Given the description of an element on the screen output the (x, y) to click on. 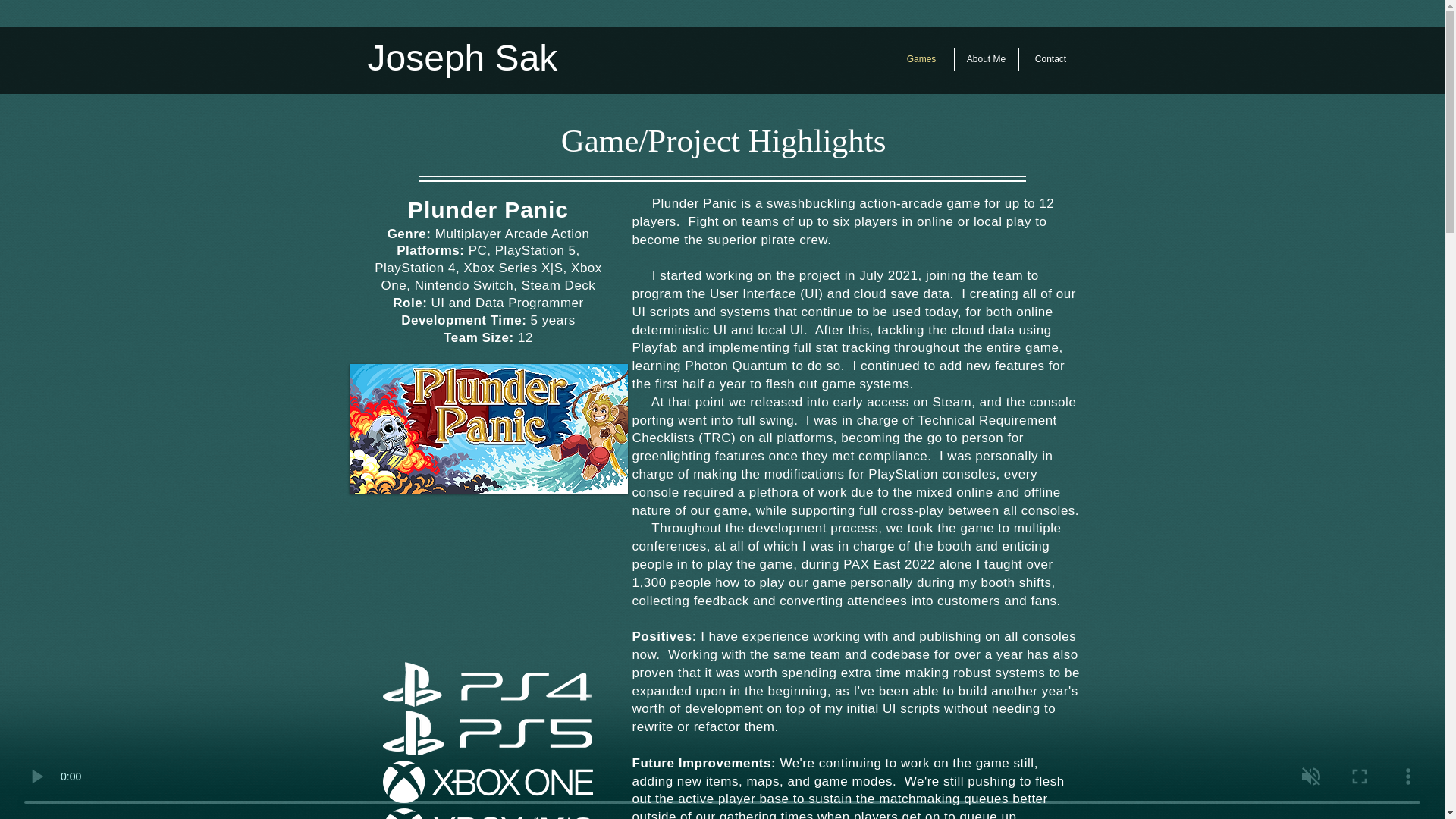
Xbox Store (486, 781)
Games (920, 58)
About Me (985, 58)
Embedded Content (488, 581)
PlayStation Store (486, 683)
Xbox Store (486, 813)
Contact (1051, 58)
PlayStation Store (486, 732)
